Given the description of an element on the screen output the (x, y) to click on. 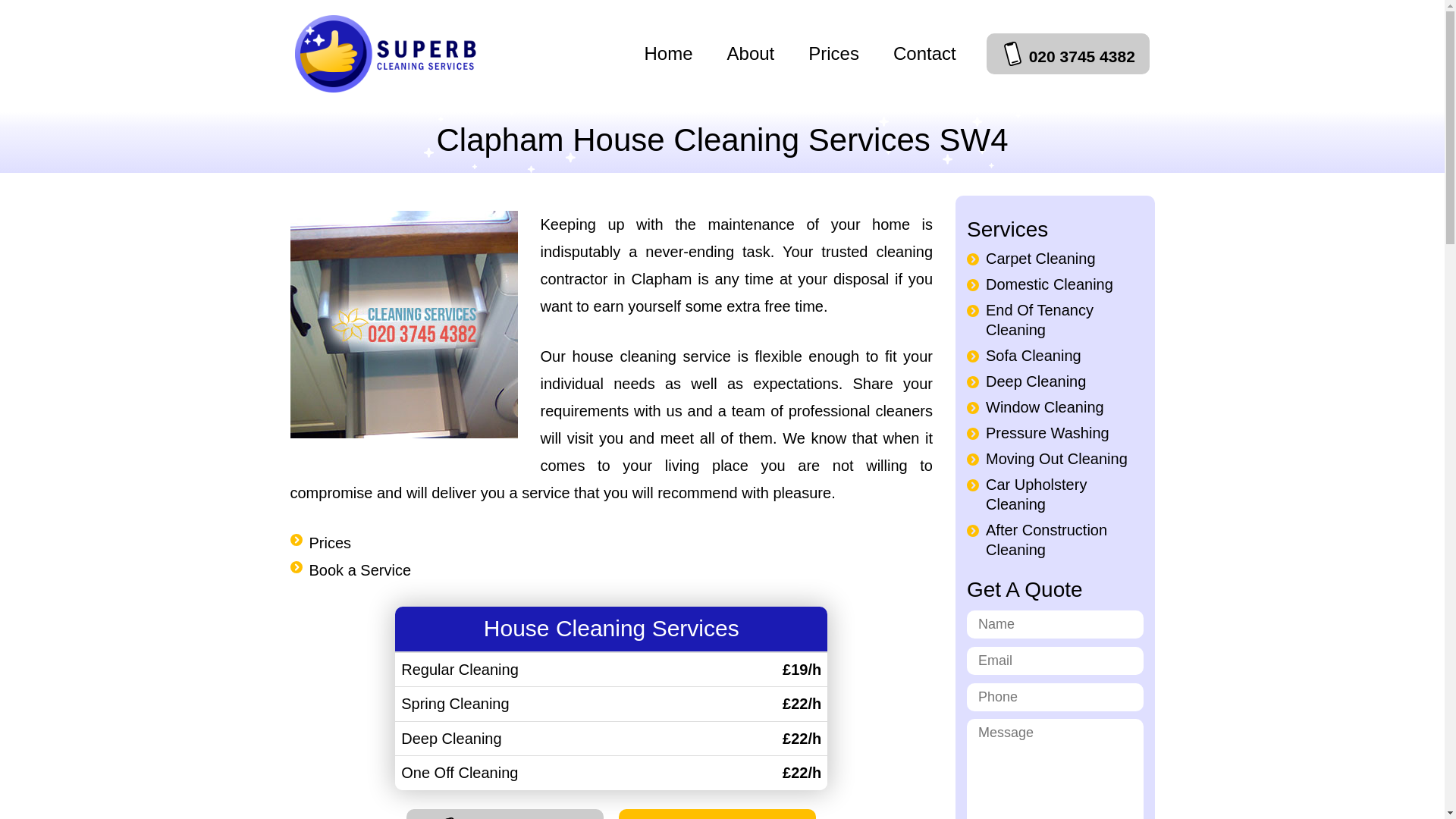
Prices (330, 542)
Deep Cleaning (1035, 381)
Contact (924, 52)
Pressure Washing (1047, 433)
End Of Tenancy Cleaning (1039, 320)
Window Cleaning (1044, 406)
020 3745 4382 (1068, 53)
After Construction Cleaning (1045, 539)
Carpet Cleaning (1040, 258)
Car Upholstery Cleaning (1035, 493)
